Given the description of an element on the screen output the (x, y) to click on. 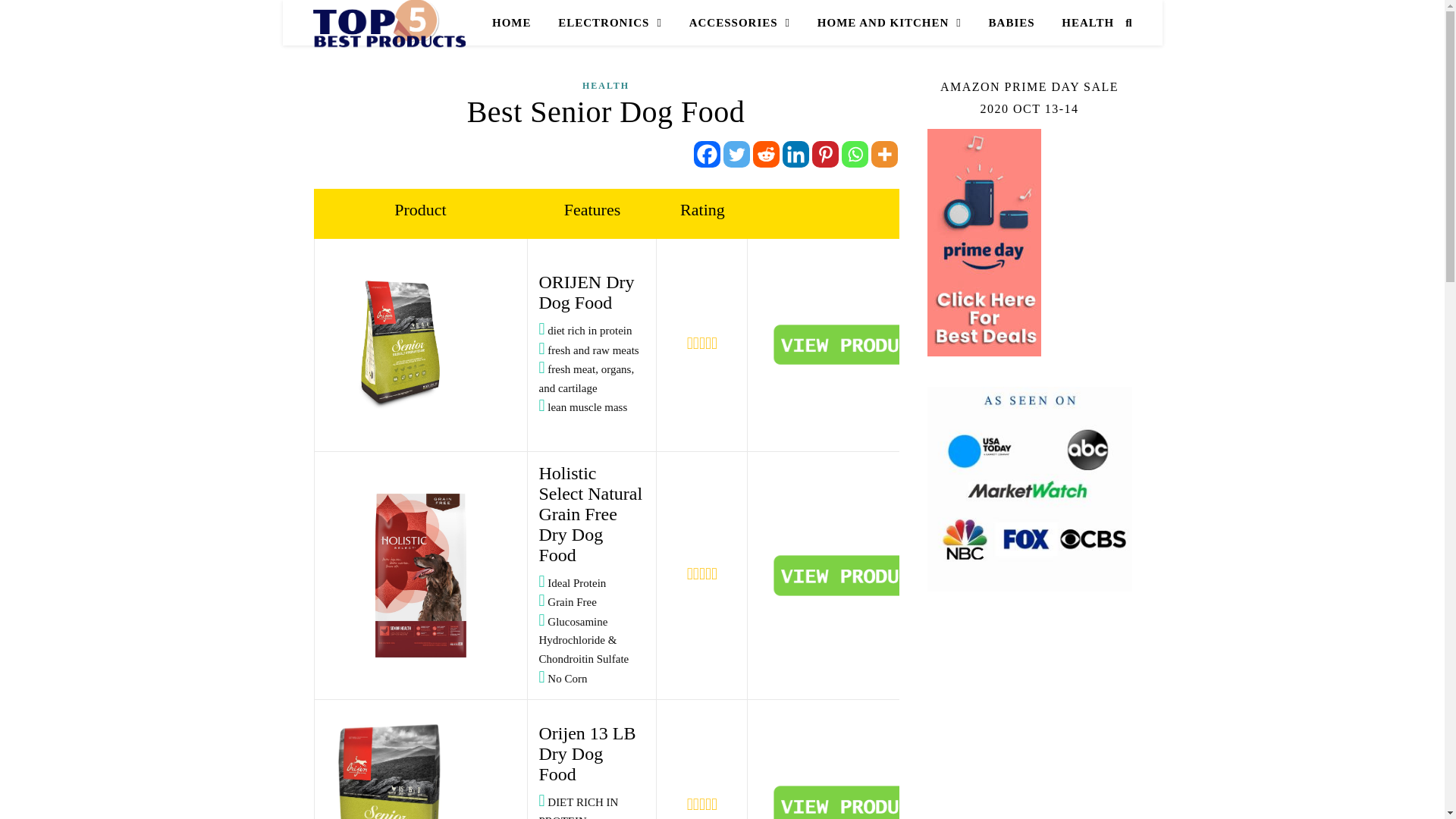
More (883, 153)
Whatsapp (854, 153)
HEALTH (1081, 22)
BABIES (1011, 22)
HEALTH (605, 85)
HOME AND KITCHEN (889, 22)
Facebook (706, 153)
Pinterest (824, 153)
Reddit (765, 153)
Twitter (736, 153)
